Given the description of an element on the screen output the (x, y) to click on. 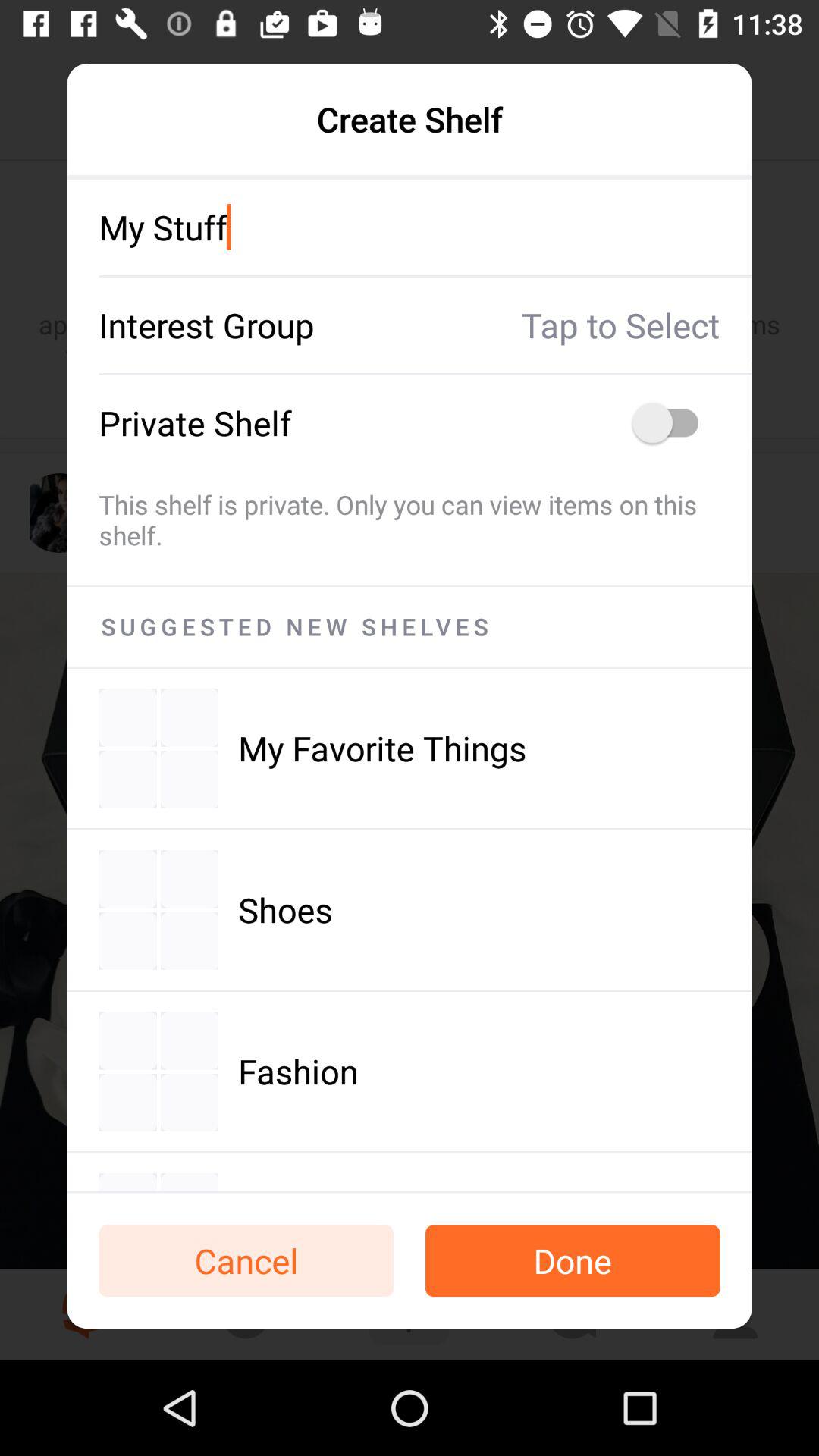
turn on private shelf (672, 422)
